Given the description of an element on the screen output the (x, y) to click on. 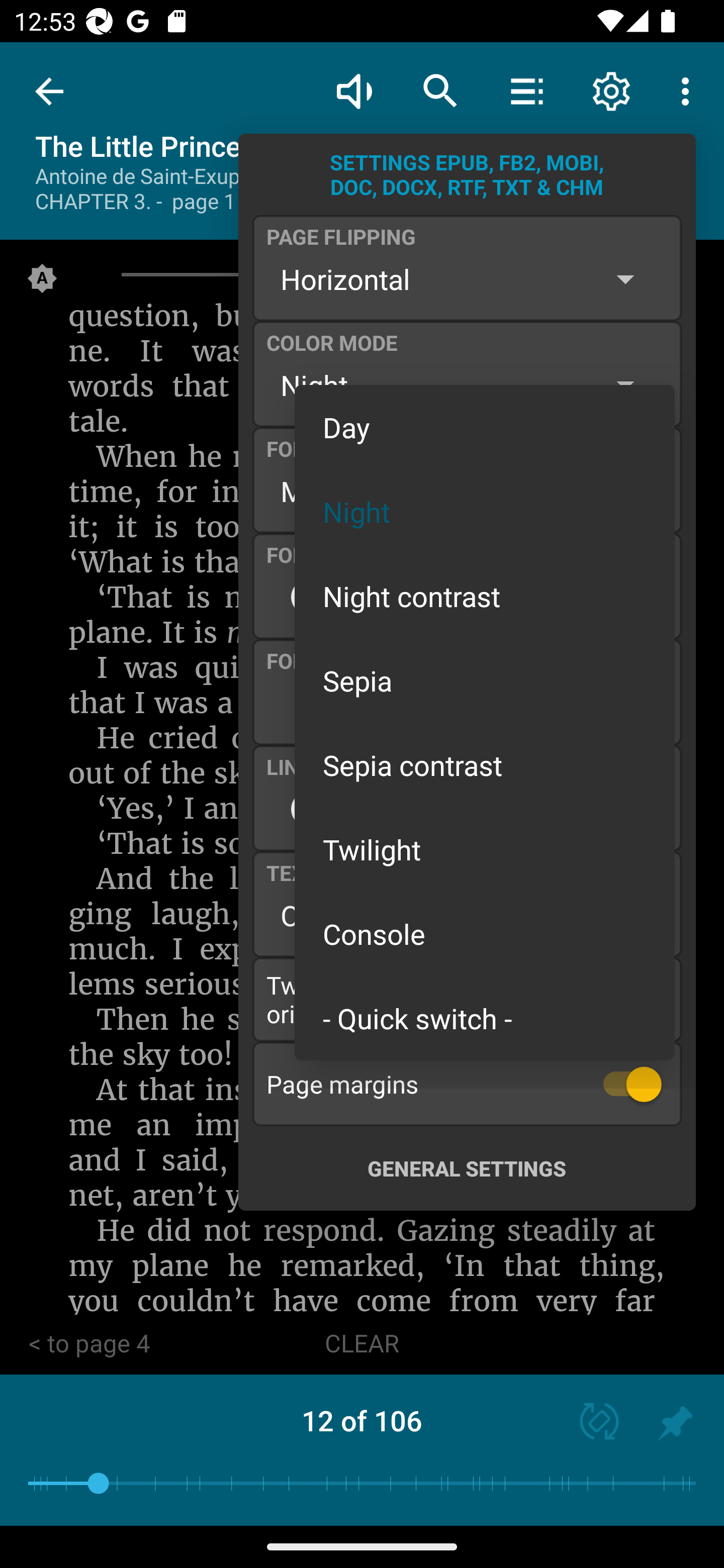
Day (484, 426)
Night (484, 510)
Night contrast (484, 595)
Sepia (484, 680)
Sepia contrast (484, 764)
Twilight (484, 849)
Console (484, 933)
- Quick switch - (484, 1017)
